Given the description of an element on the screen output the (x, y) to click on. 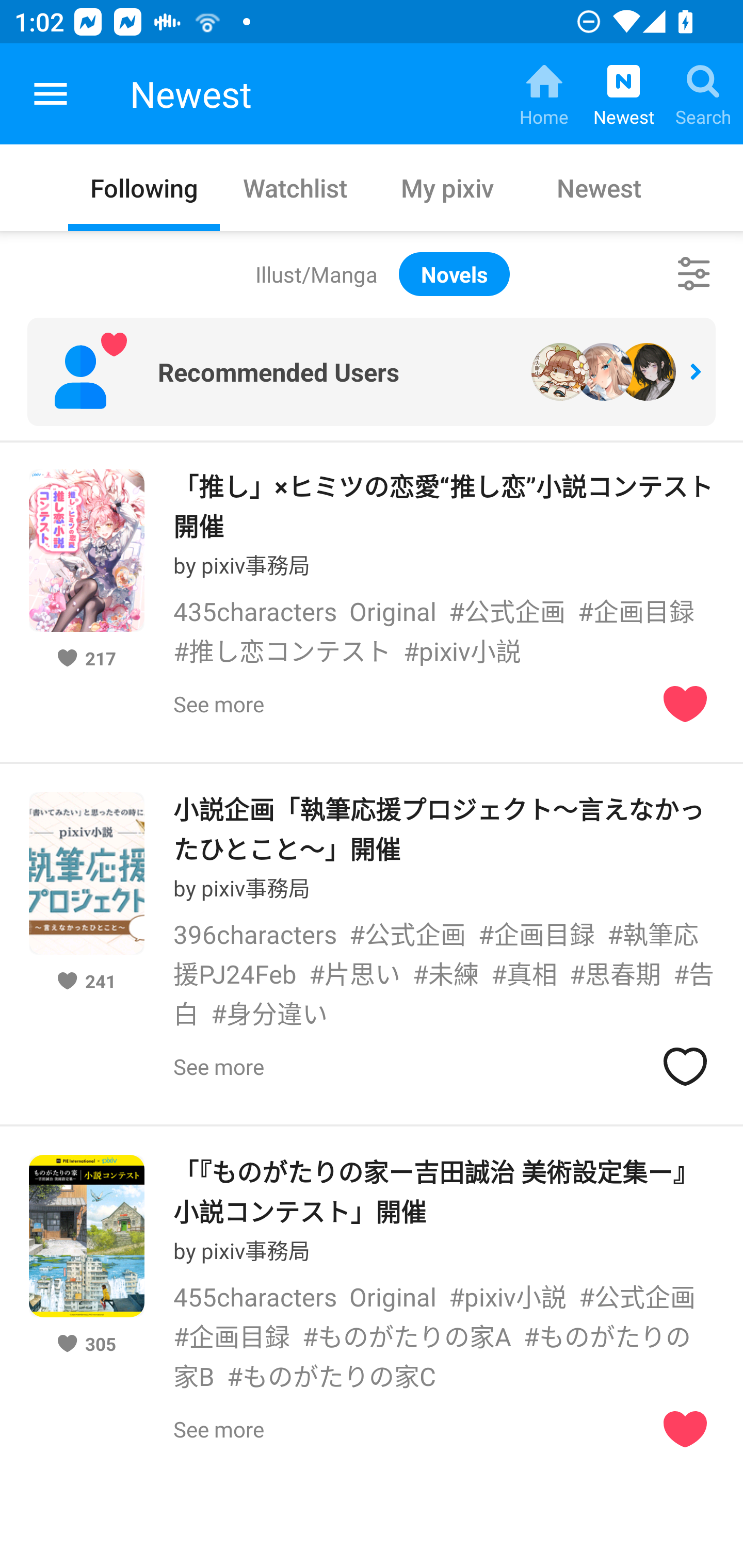
pixiv (50, 93)
Home (543, 93)
Search (703, 93)
Watchlist (295, 187)
My pixiv (447, 187)
Newest (598, 187)
Illust/Manga (315, 274)
Novels (453, 274)
Recommended Users (371, 372)
